Given the description of an element on the screen output the (x, y) to click on. 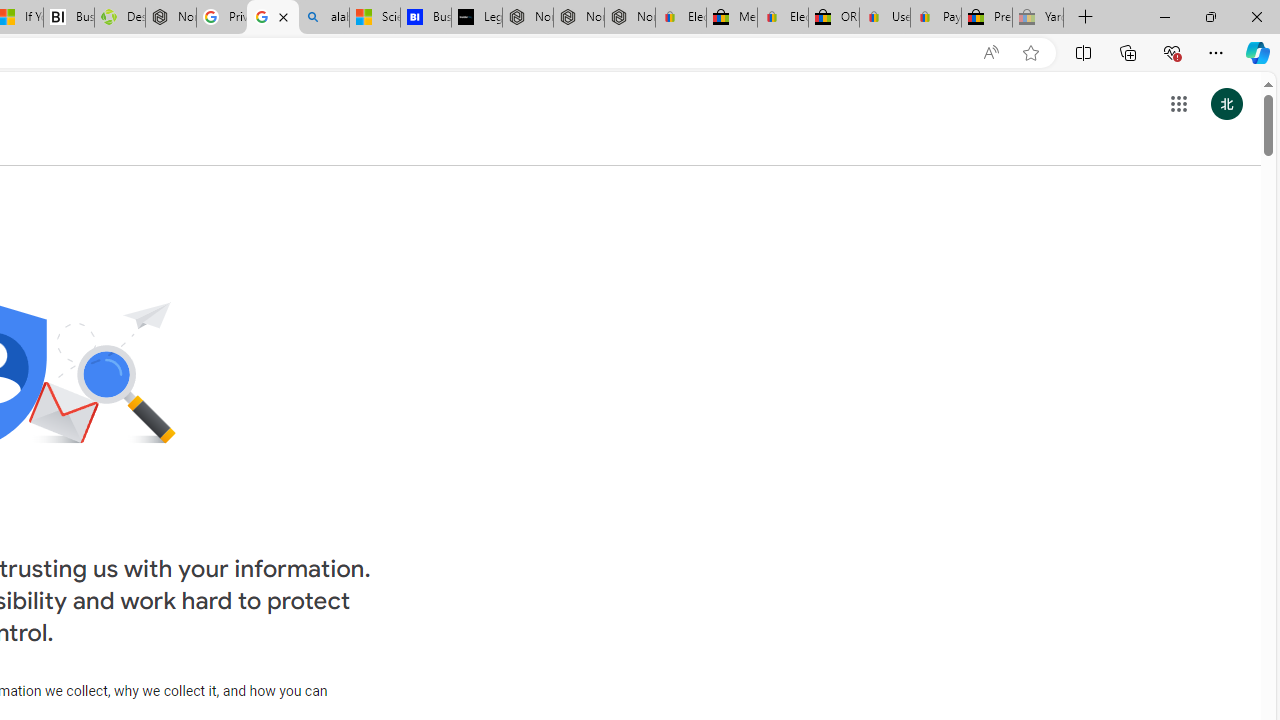
Nordace - My Account (170, 17)
alabama high school quarterback dies - Search (324, 17)
Class: gb_E (1178, 103)
Payments Terms of Use | eBay.com (936, 17)
Google apps (1178, 103)
